Given the description of an element on the screen output the (x, y) to click on. 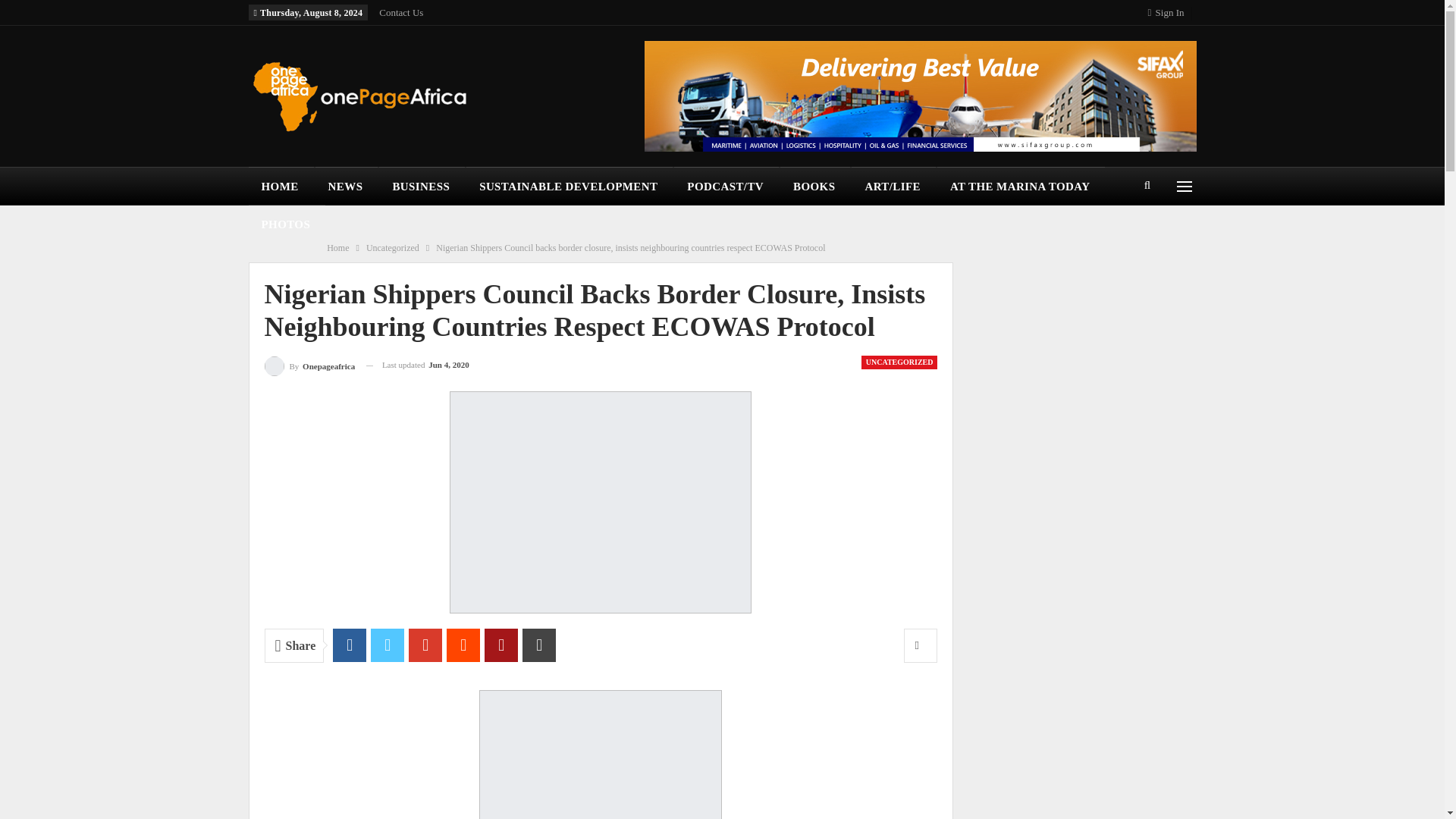
Browse Author Articles (309, 364)
AT THE MARINA TODAY (1021, 186)
NEWS (346, 186)
BUSINESS (421, 186)
HOME (281, 186)
By Onepageafrica (309, 364)
PHOTOS (287, 224)
Uncategorized (392, 247)
SUSTAINABLE DEVELOPMENT (568, 186)
BOOKS (815, 186)
Contact Us (400, 12)
Home (337, 247)
Sign In (1169, 12)
UNCATEGORIZED (899, 362)
